Given the description of an element on the screen output the (x, y) to click on. 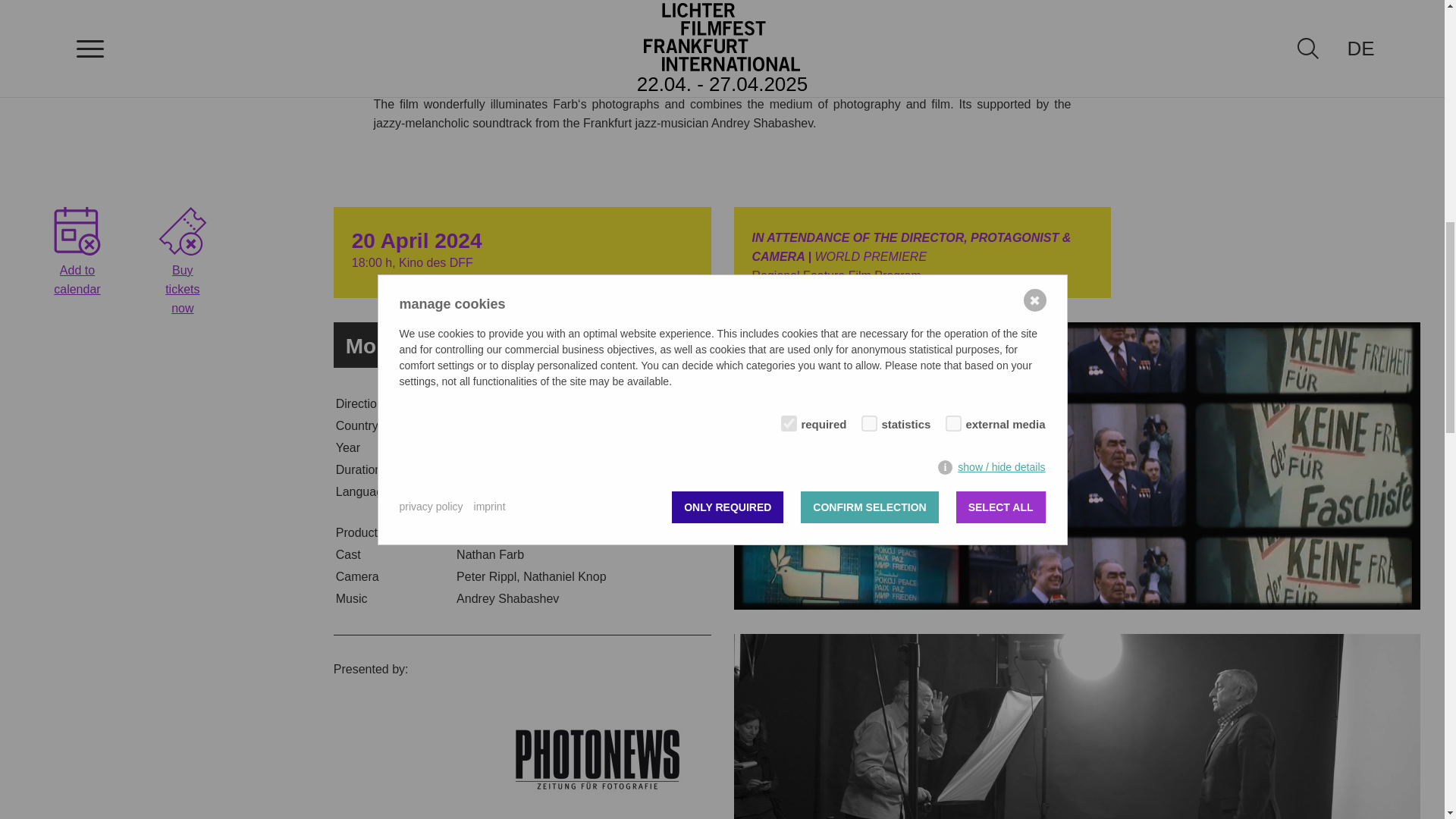
Lichter Filmfest (182, 231)
Lichter Filmfest (76, 231)
